Given the description of an element on the screen output the (x, y) to click on. 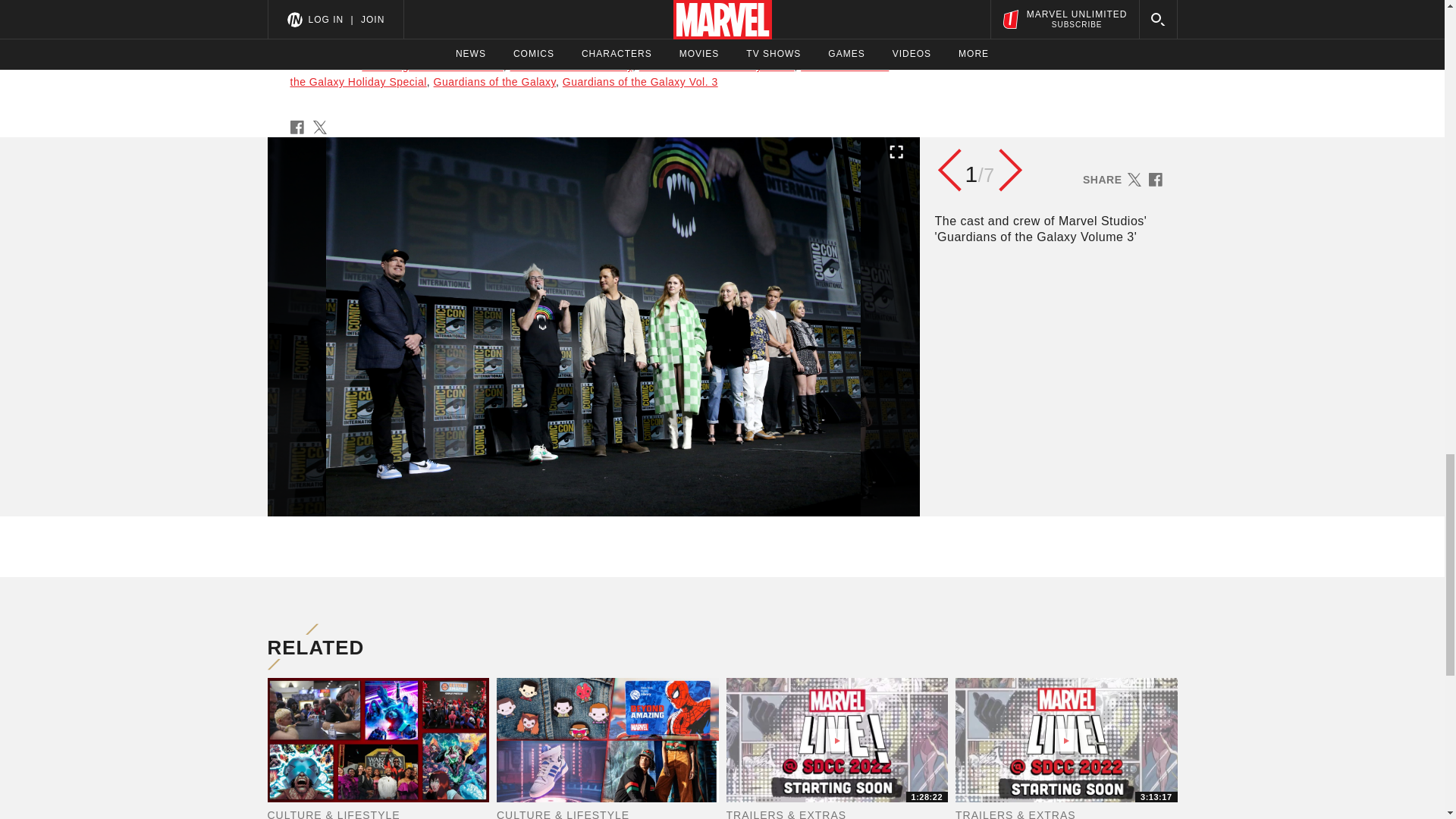
Facebook (687, 19)
Guardians of the Galaxy (570, 65)
Twitch (757, 19)
The Guardians of the Galaxy Holiday Special (588, 73)
YouTube (587, 19)
San Diego Comic-Con 2022 (431, 65)
Twitter (635, 19)
Marvel.com (525, 19)
Guardians of the Galaxy Vol. 2 (716, 65)
